Given the description of an element on the screen output the (x, y) to click on. 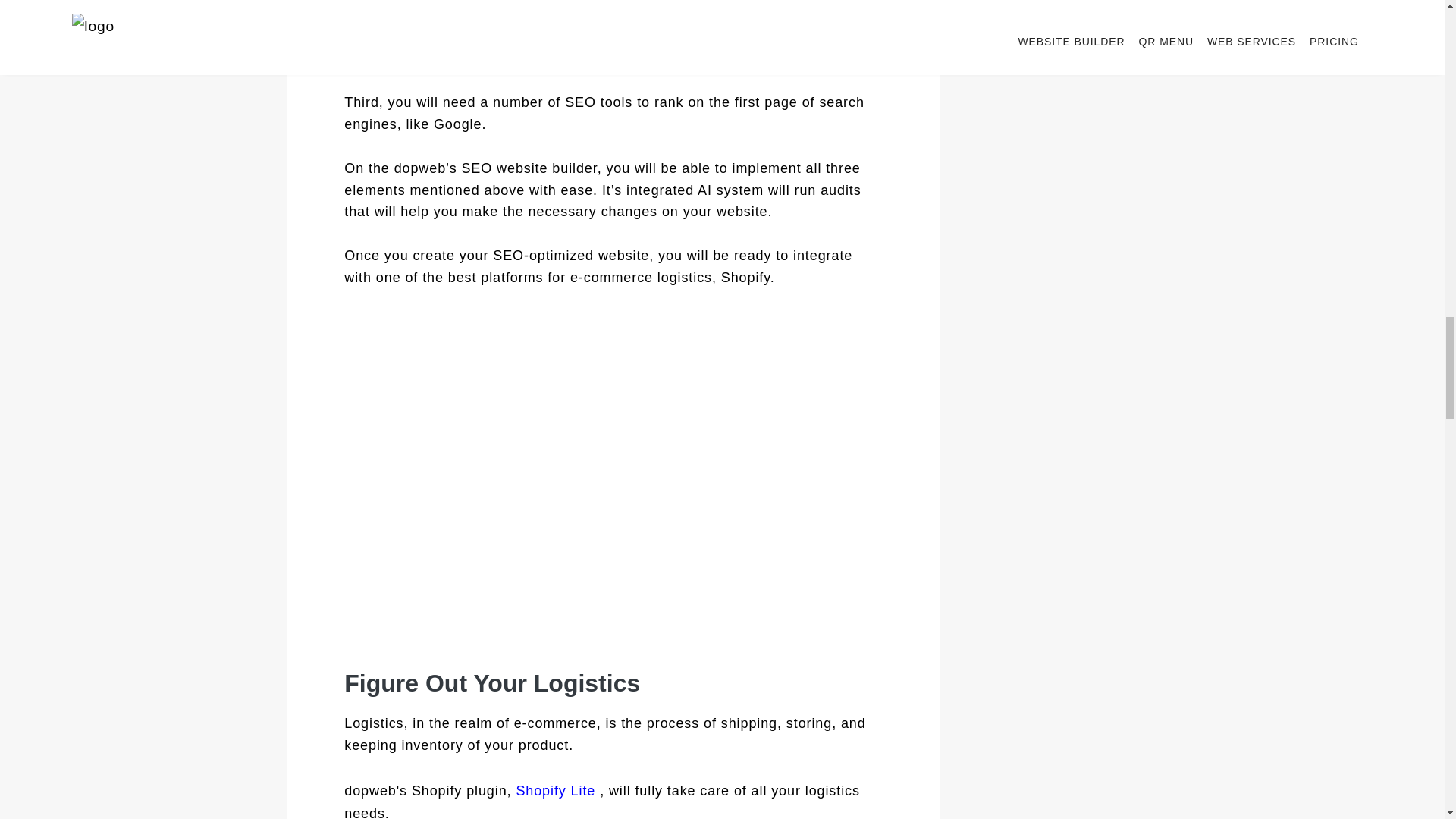
Shopify Lite (557, 790)
